Given the description of an element on the screen output the (x, y) to click on. 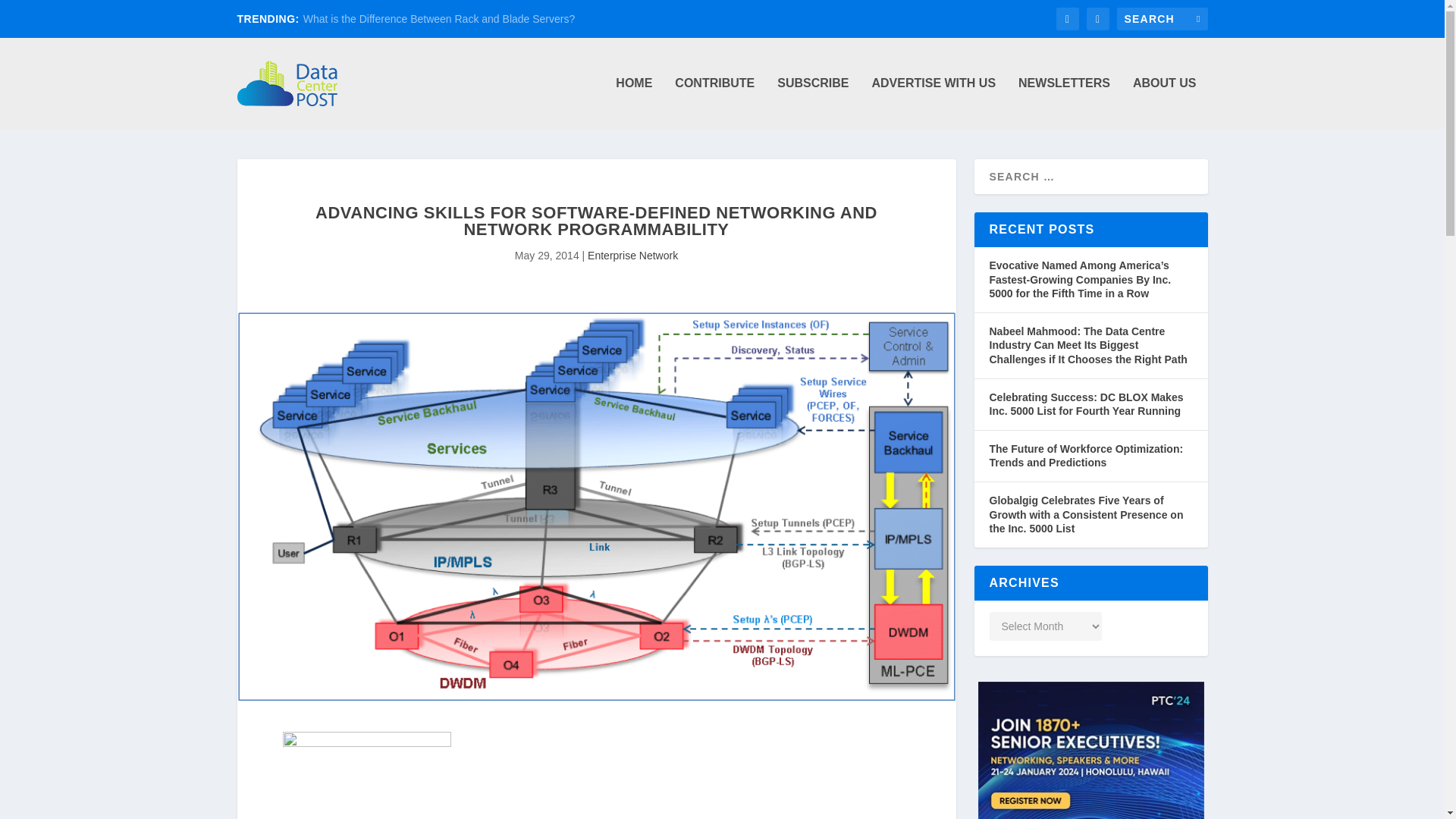
What is the Difference Between Rack and Blade Servers? (438, 19)
ABOUT US (1164, 102)
CONTRIBUTE (714, 102)
Enterprise Network (633, 255)
Search (31, 13)
ADVERTISE WITH US (932, 102)
Search for: (1161, 18)
SUBSCRIBE (812, 102)
NEWSLETTERS (1063, 102)
